Given the description of an element on the screen output the (x, y) to click on. 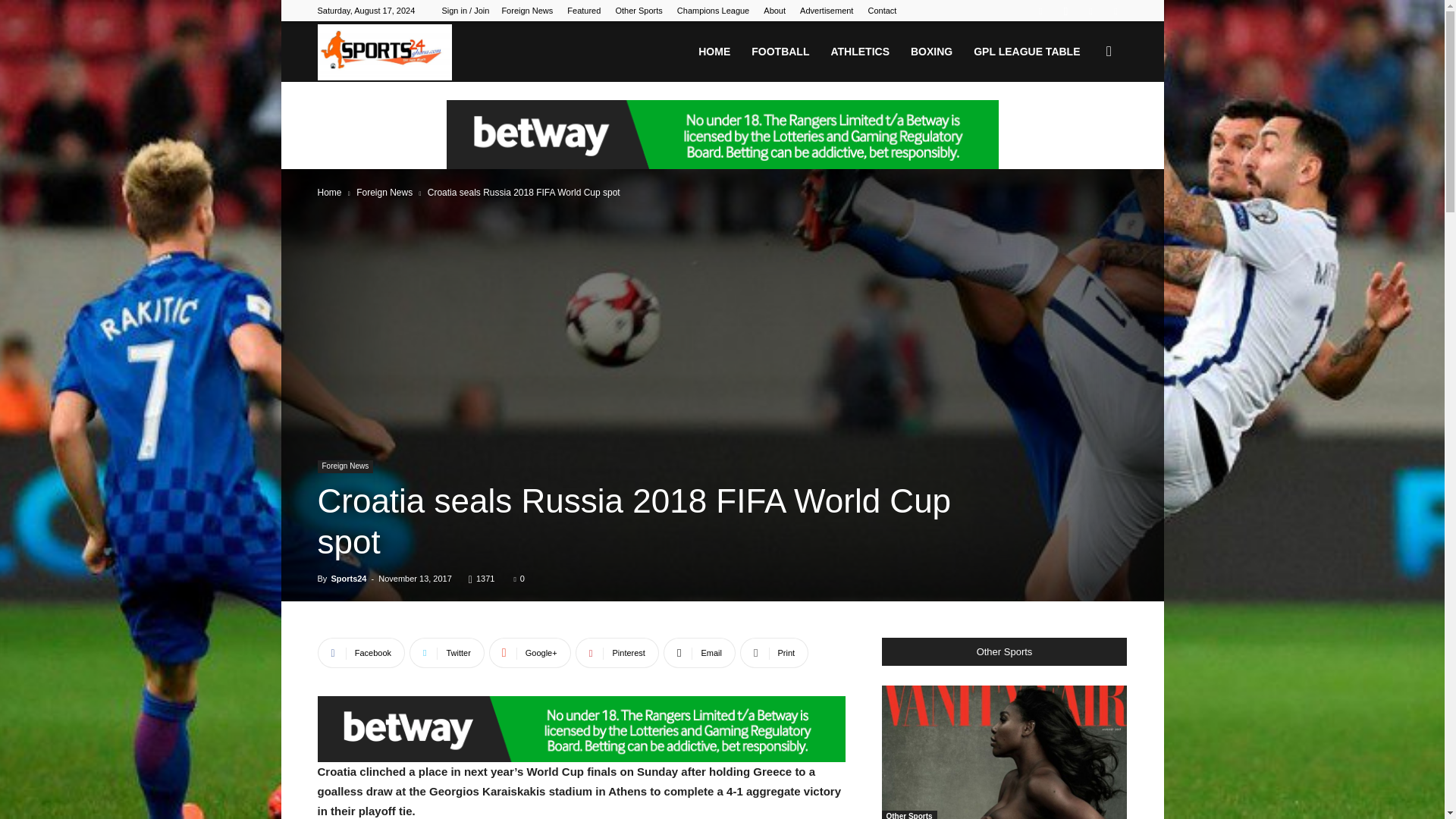
Linkedin (1090, 10)
Facebook (1040, 10)
Twitter (1114, 10)
Advertisement (826, 10)
View all posts in Foreign News (384, 192)
Sports 24 Ghana (384, 52)
Other Sports (638, 10)
ATHLETICS (859, 51)
Champions League (713, 10)
Featured (583, 10)
